Given the description of an element on the screen output the (x, y) to click on. 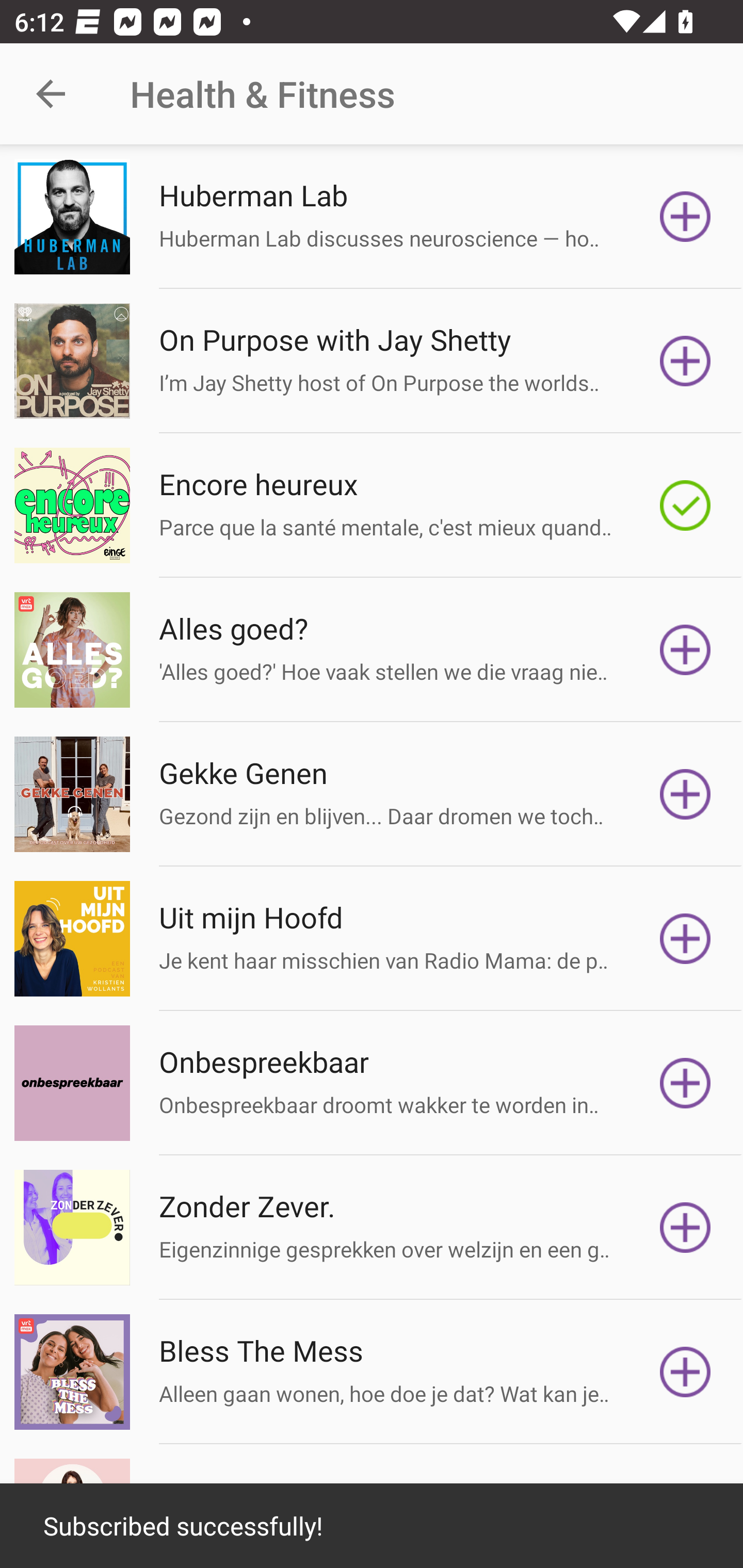
Navigate up (50, 93)
Subscribe (685, 216)
Subscribe (685, 360)
Subscribed (685, 505)
Subscribe (685, 649)
Subscribe (685, 793)
Subscribe (685, 939)
Subscribe (685, 1083)
Subscribe (685, 1227)
Subscribe (685, 1371)
Subscribed successfully! (371, 1525)
